Given the description of an element on the screen output the (x, y) to click on. 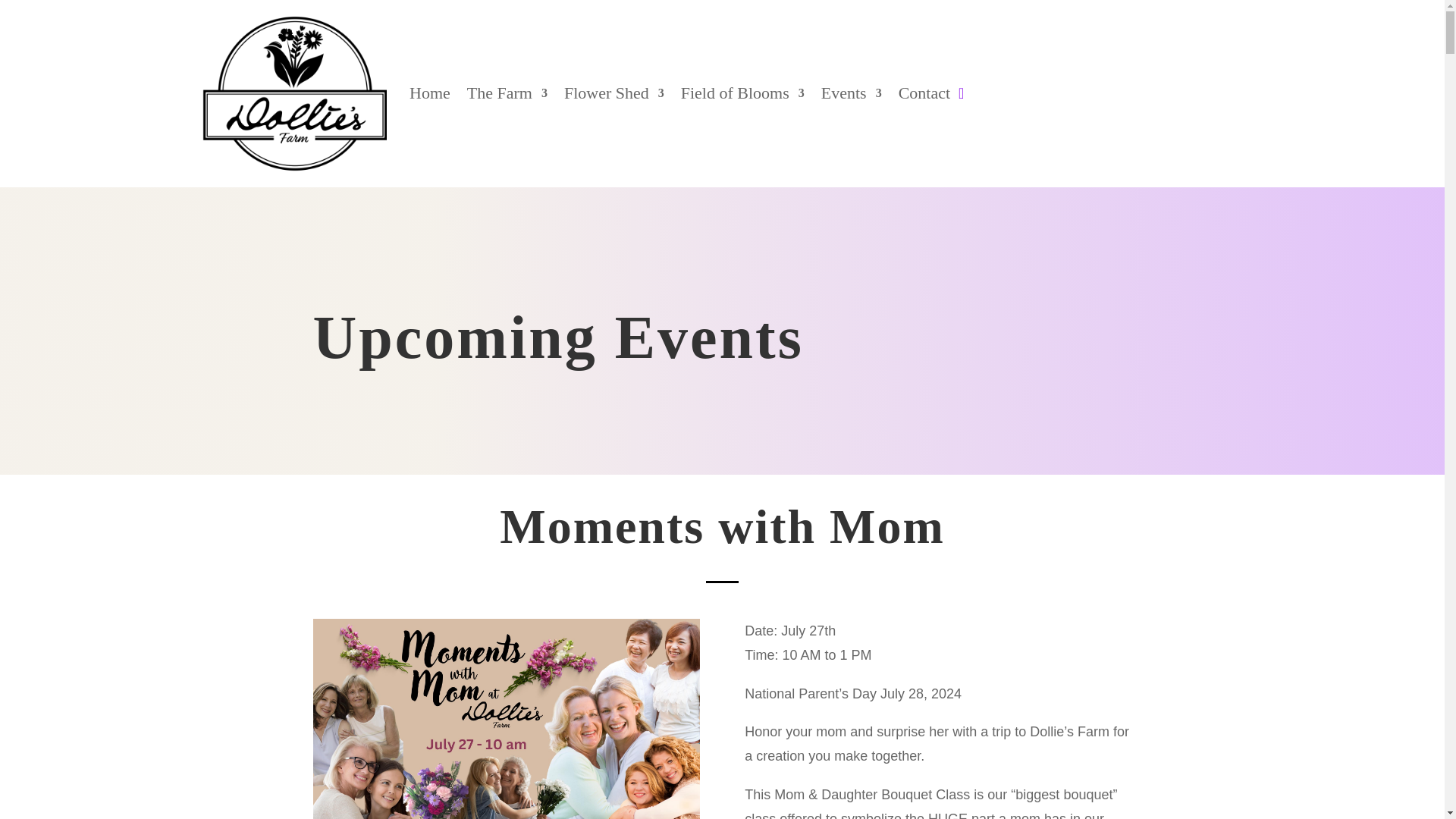
Contact (924, 93)
The Farm (507, 93)
Home (429, 93)
Moments with Mom (505, 719)
Flower Shed (613, 93)
Events (851, 93)
Field of Blooms (743, 93)
